Given the description of an element on the screen output the (x, y) to click on. 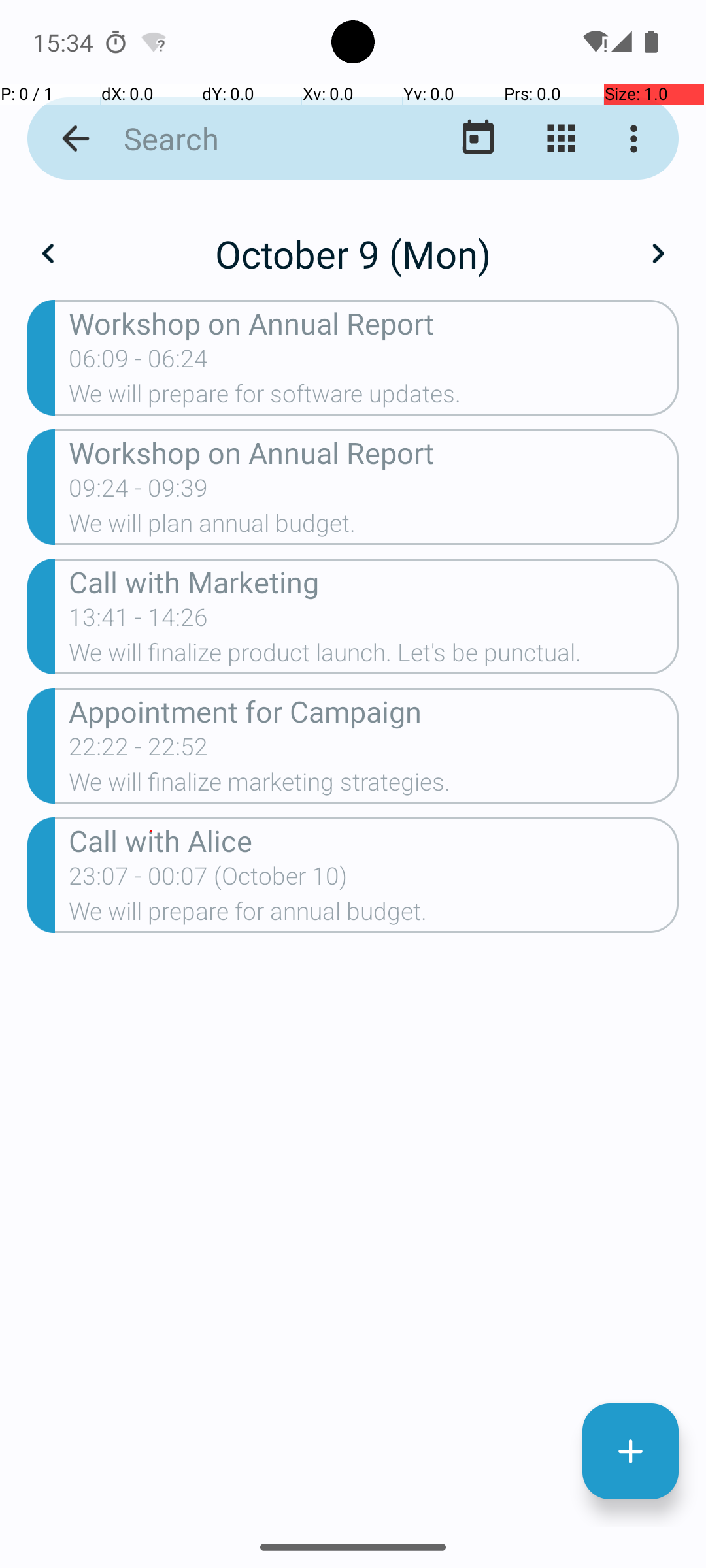
October 9 (Mon) Element type: android.widget.TextView (352, 253)
Workshop on Annual Report Element type: android.widget.TextView (373, 321)
06:09 - 06:24 Element type: android.widget.TextView (137, 362)
We will prepare for software updates. Element type: android.widget.TextView (373, 397)
09:24 - 09:39 Element type: android.widget.TextView (137, 491)
We will plan annual budget. Element type: android.widget.TextView (373, 526)
Call with Marketing Element type: android.widget.TextView (373, 580)
13:41 - 14:26 Element type: android.widget.TextView (137, 620)
We will finalize product launch. Let's be punctual. Element type: android.widget.TextView (373, 656)
Appointment for Campaign Element type: android.widget.TextView (373, 710)
22:22 - 22:52 Element type: android.widget.TextView (137, 750)
We will finalize marketing strategies. Element type: android.widget.TextView (373, 785)
Call with Alice Element type: android.widget.TextView (373, 839)
23:07 - 00:07 (October 10) Element type: android.widget.TextView (207, 879)
We will prepare for annual budget. Element type: android.widget.TextView (373, 914)
